Given the description of an element on the screen output the (x, y) to click on. 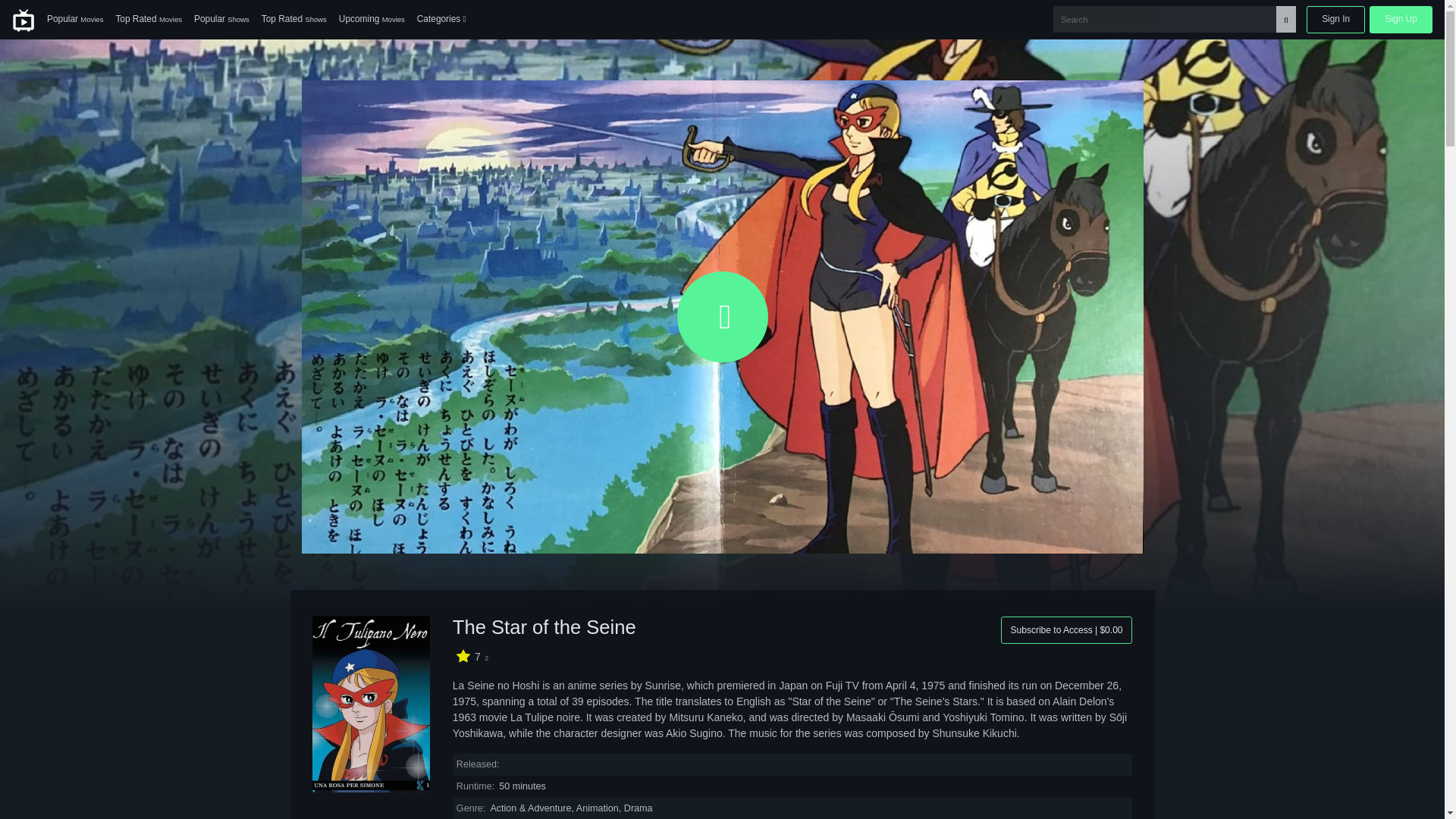
Top Rated Movies (148, 19)
Upcoming Movies (371, 19)
Popular Shows (221, 19)
Popular Movies (74, 19)
Categories (440, 19)
Top Rated Shows (294, 19)
